Given the description of an element on the screen output the (x, y) to click on. 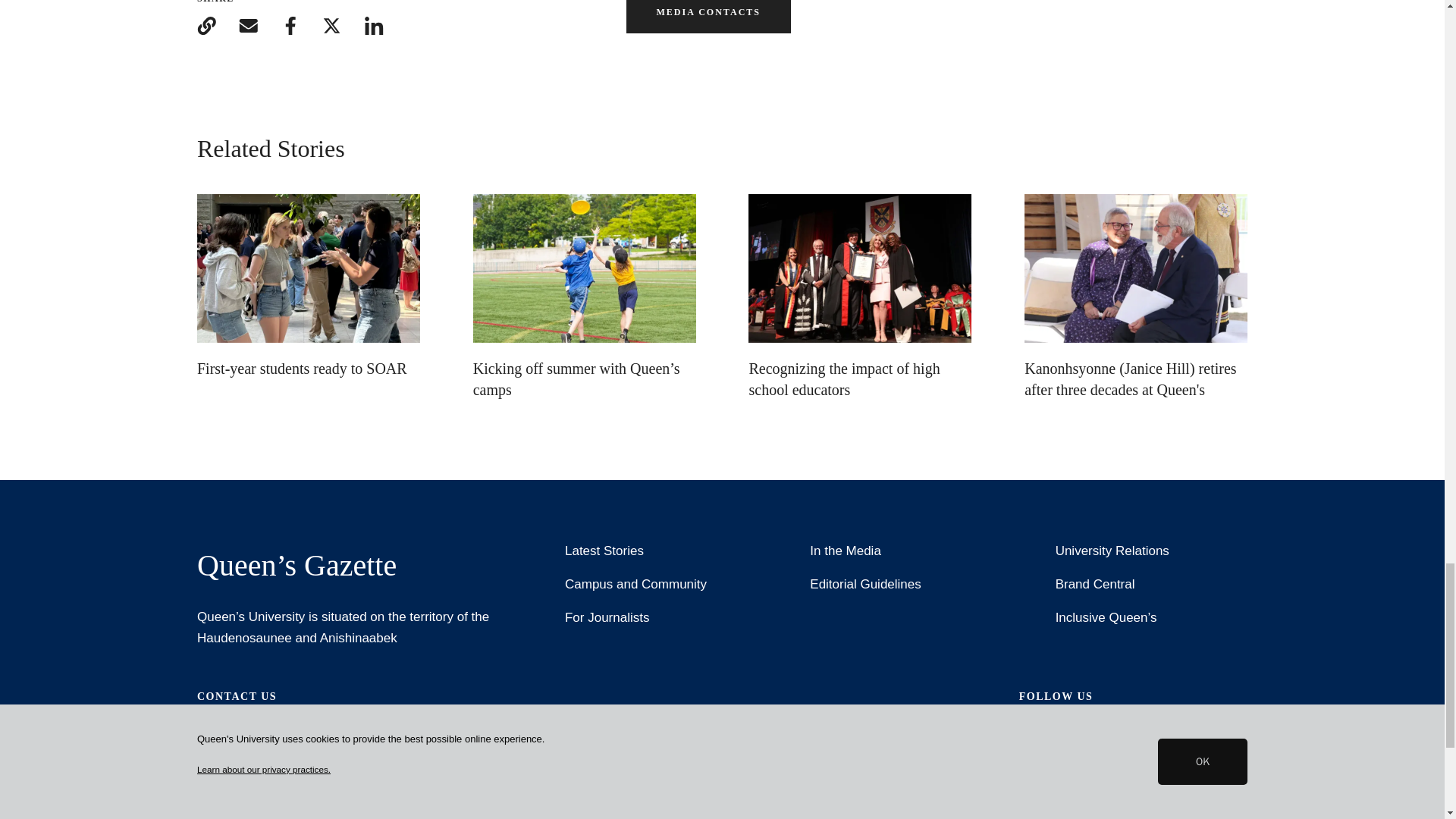
Copy link to clipboard (205, 25)
